Given the description of an element on the screen output the (x, y) to click on. 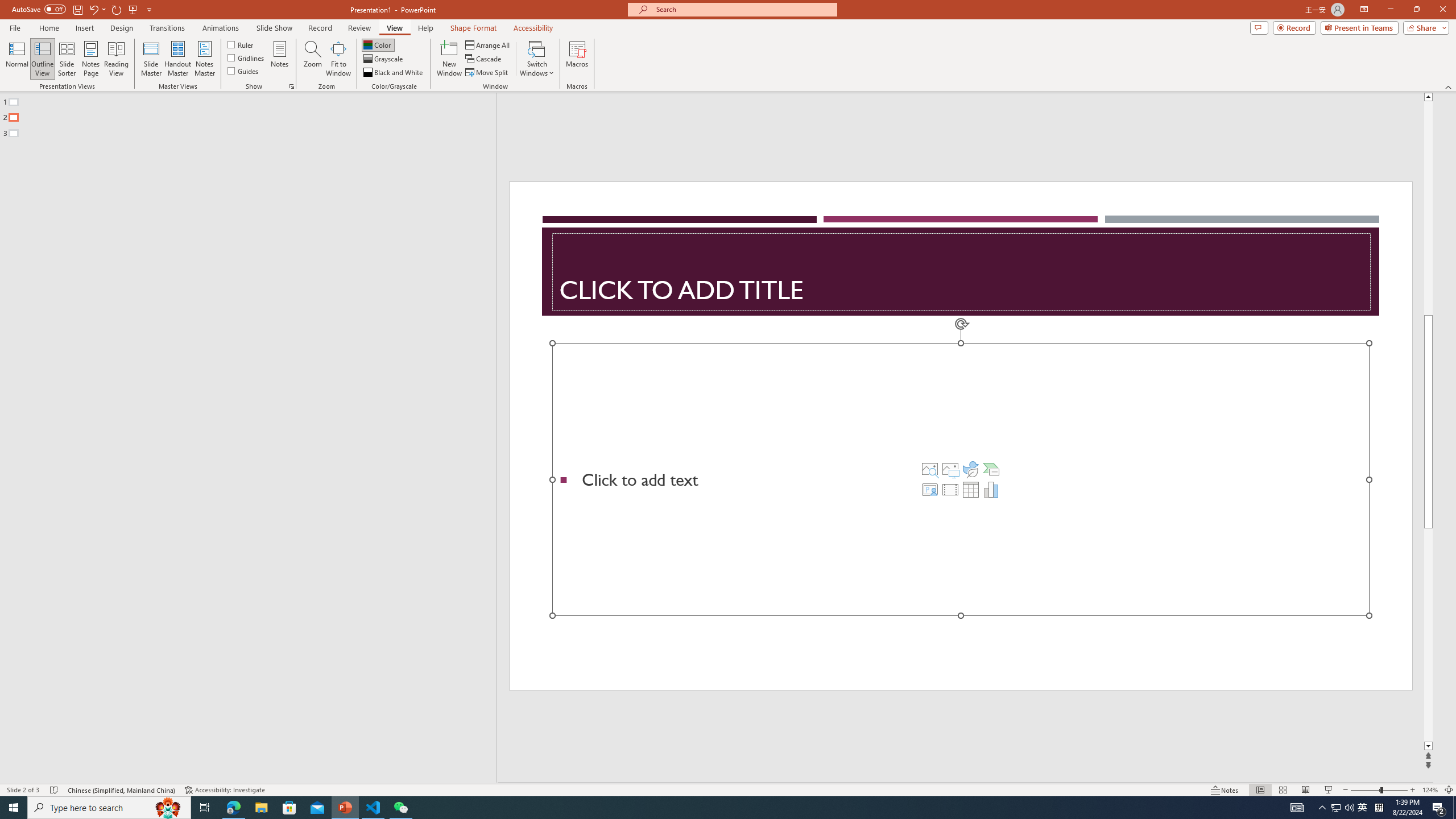
Slide Master (151, 58)
